Given the description of an element on the screen output the (x, y) to click on. 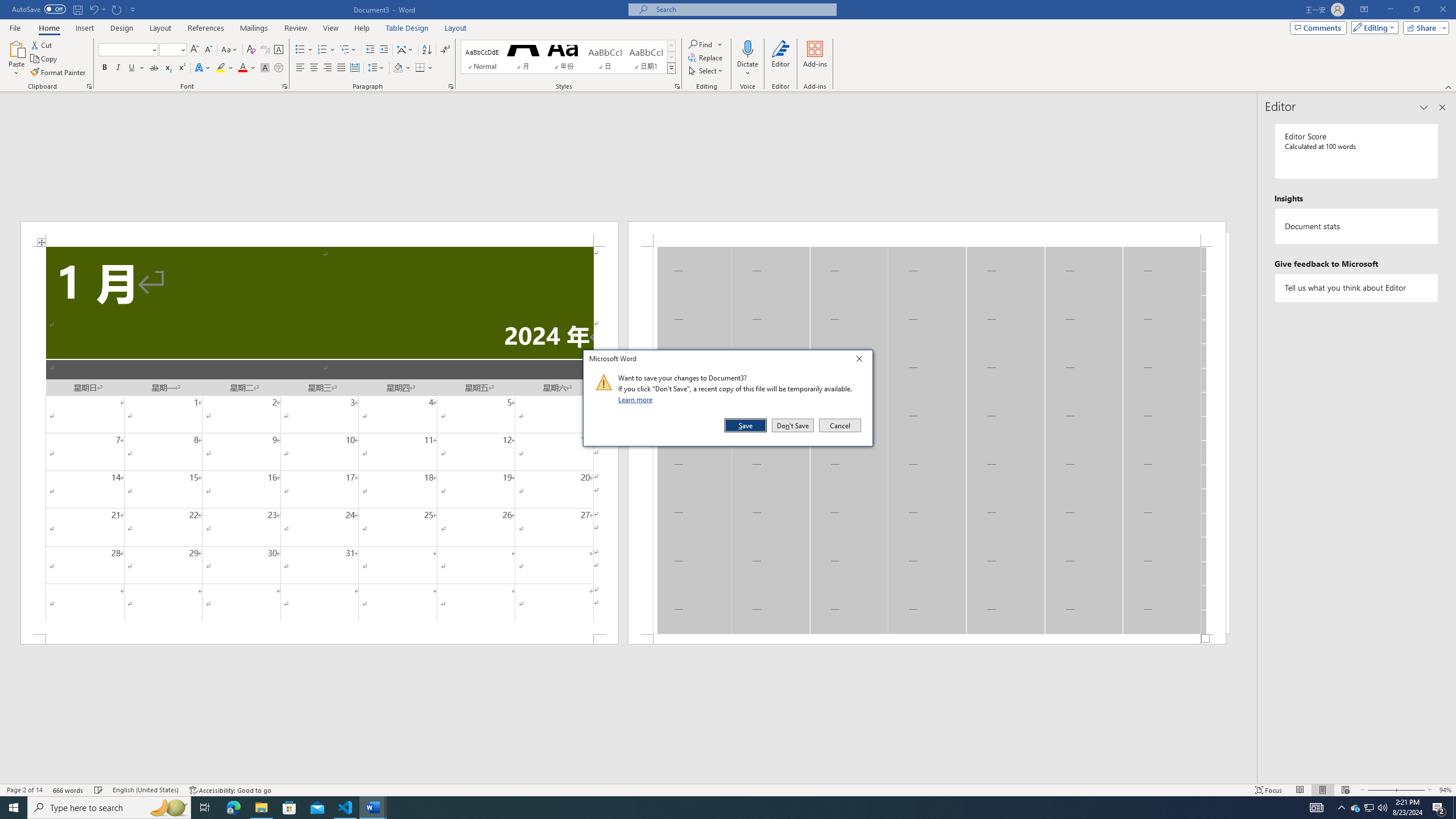
Task Pane Options (1423, 107)
Customize Quick Access Toolbar (133, 9)
Text Effects and Typography (202, 67)
Task View (204, 807)
Microsoft search (742, 9)
Line and Paragraph Spacing (376, 67)
Tell us what you think about Editor (1356, 288)
Font Color RGB(255, 0, 0) (241, 67)
User Promoted Notification Area (1368, 807)
Undo Apply Quick Style (92, 9)
Shrink Font (208, 49)
Language English (United States) (145, 790)
